Given the description of an element on the screen output the (x, y) to click on. 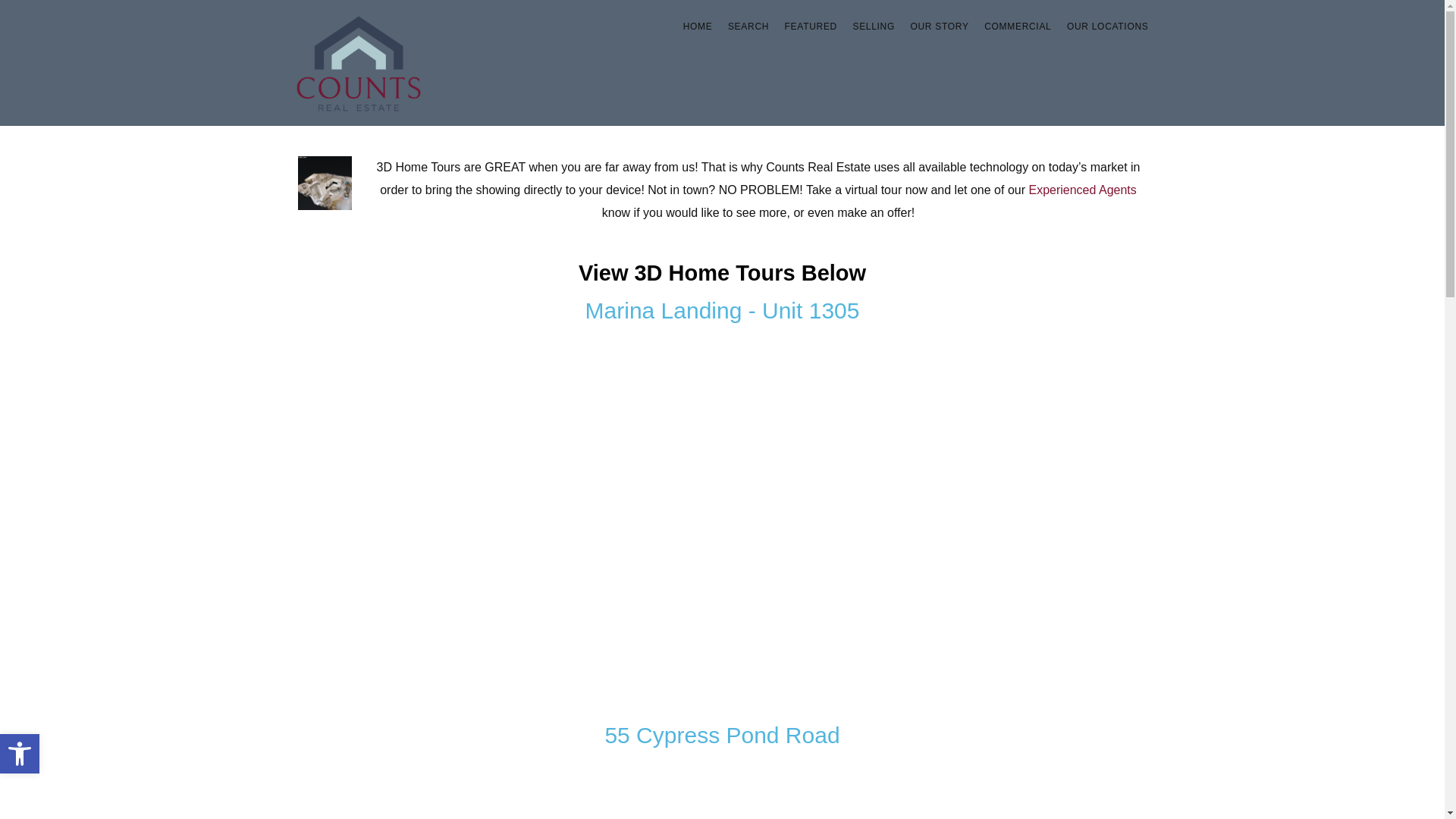
Accessibility Tools (19, 753)
SEARCH (748, 26)
FEATURED (810, 26)
OUR STORY (19, 753)
Skip to primary navigation (939, 26)
Accessibility Tools (873, 26)
